Given the description of an element on the screen output the (x, y) to click on. 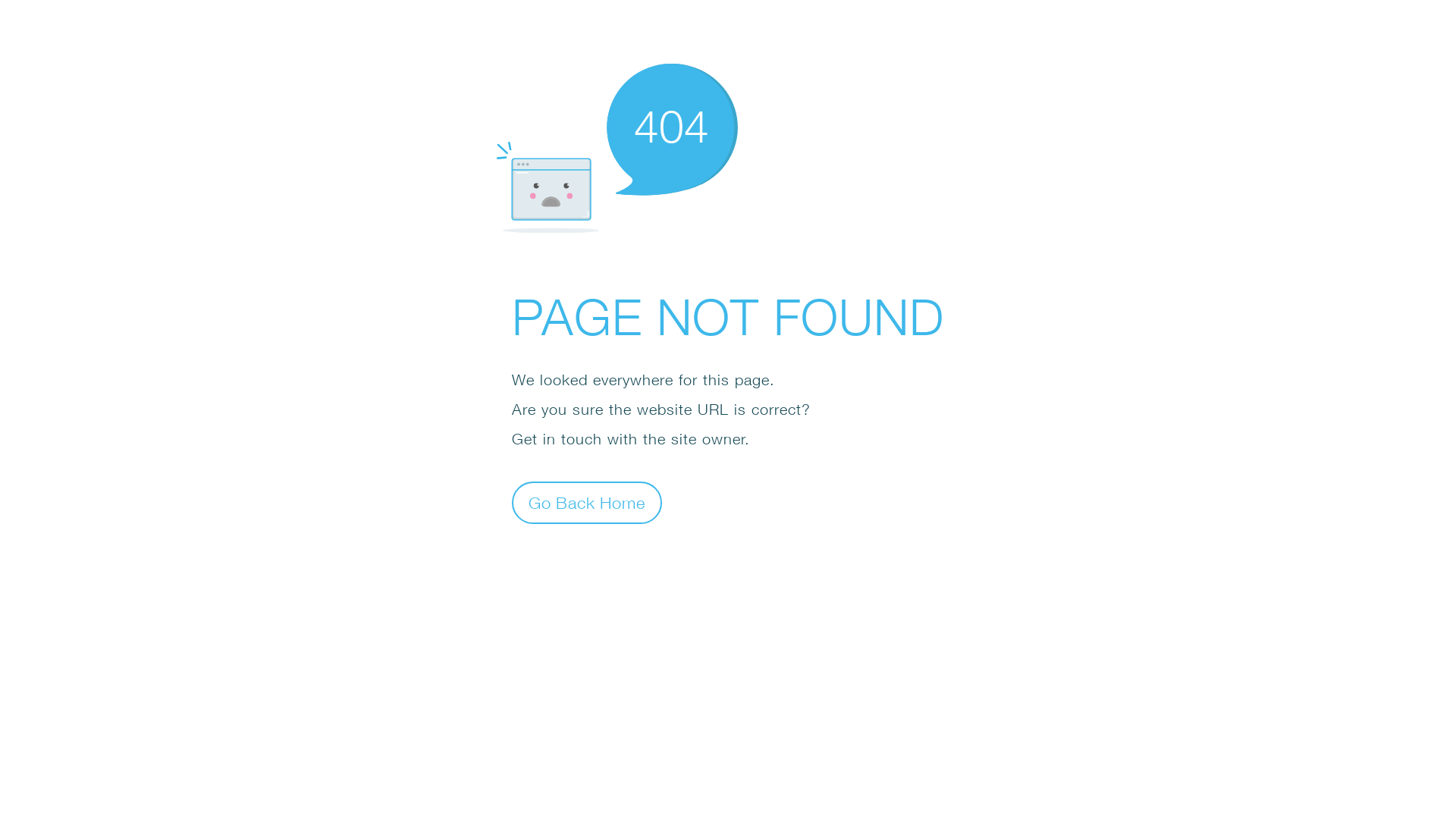
Go Back Home Element type: text (586, 502)
